Given the description of an element on the screen output the (x, y) to click on. 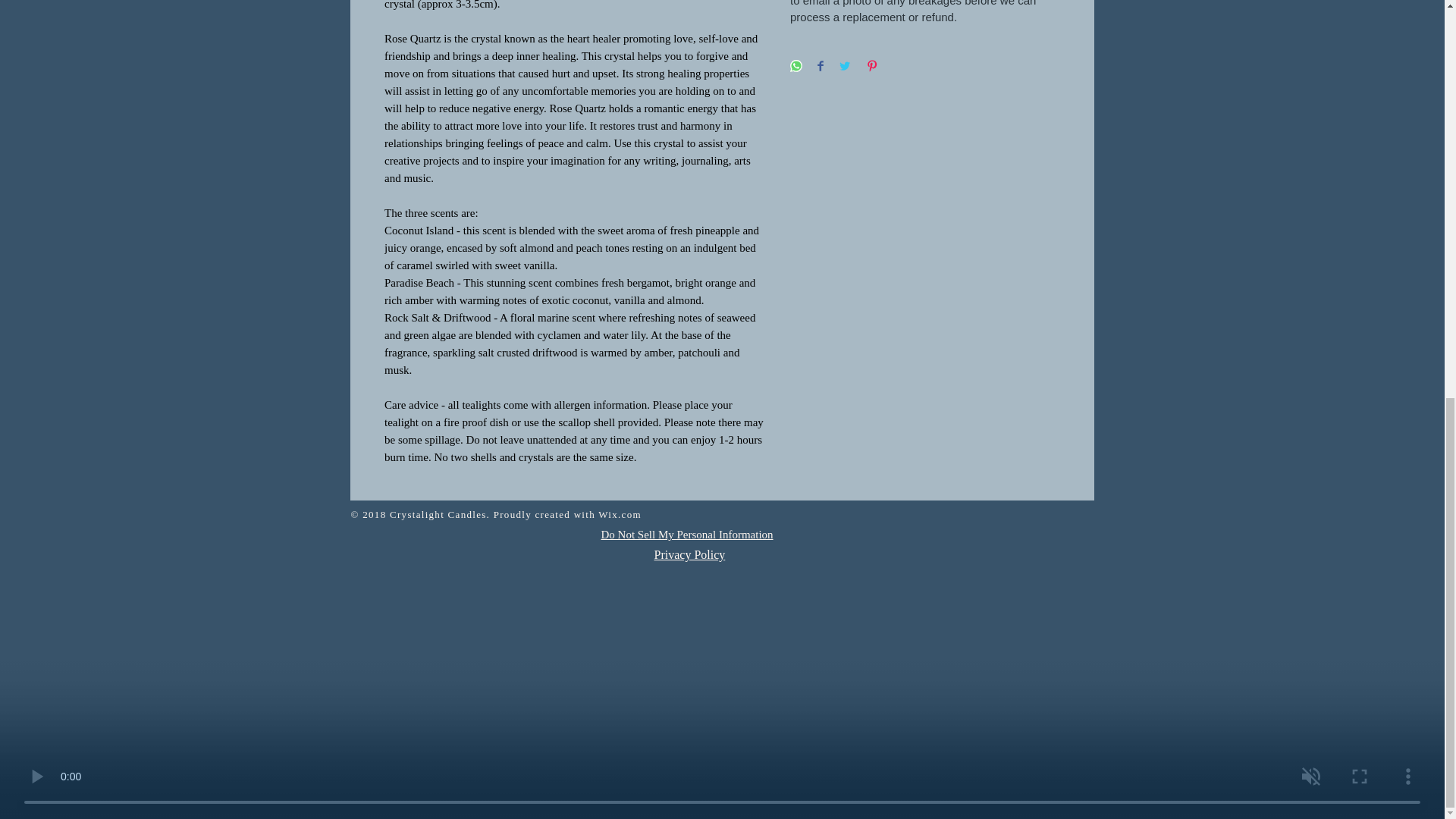
Wix.com (620, 514)
Privacy Policy (689, 554)
Do Not Sell My Personal Information (686, 534)
